Given the description of an element on the screen output the (x, y) to click on. 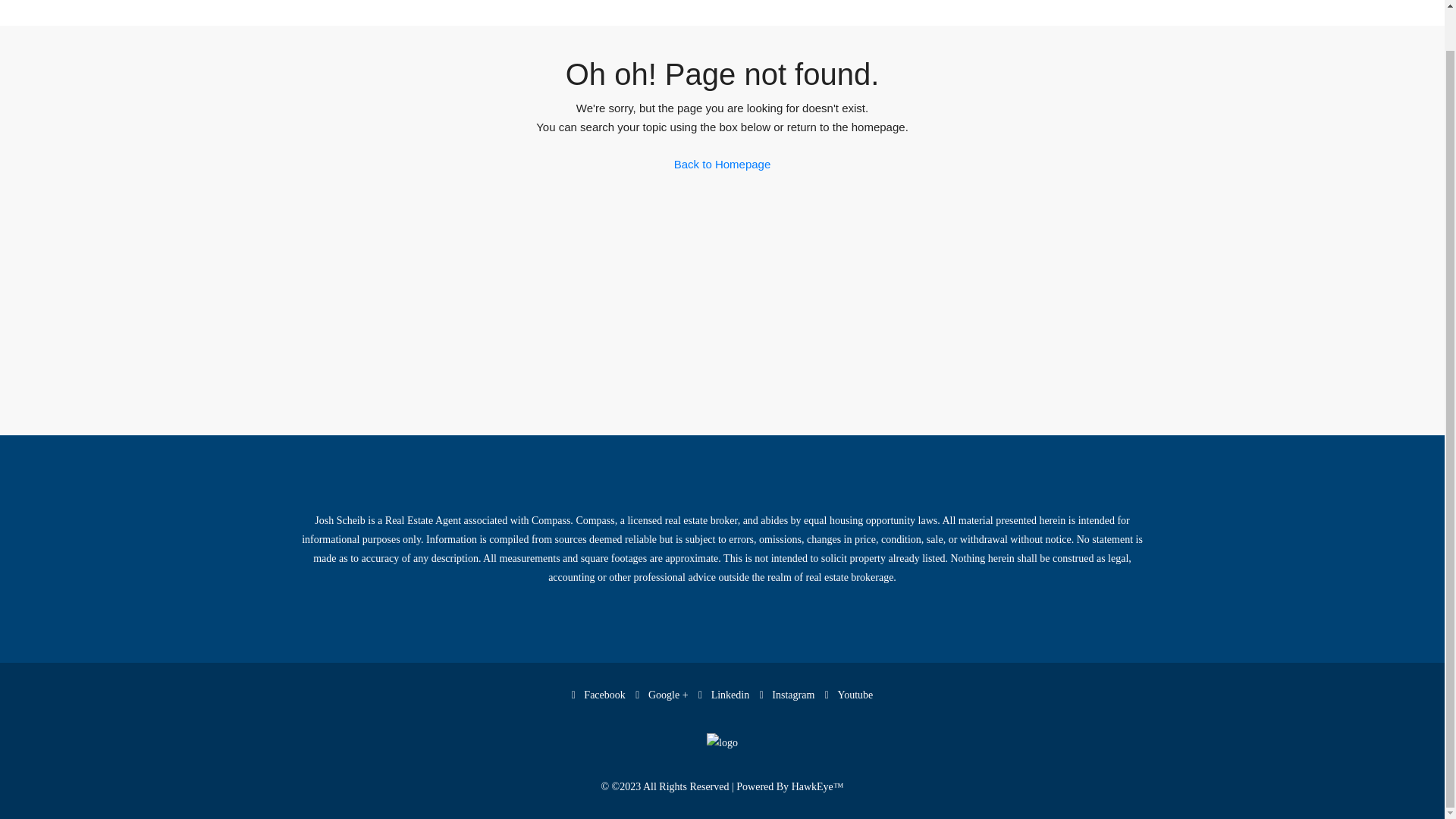
Communities (675, 13)
Home (603, 12)
